Given the description of an element on the screen output the (x, y) to click on. 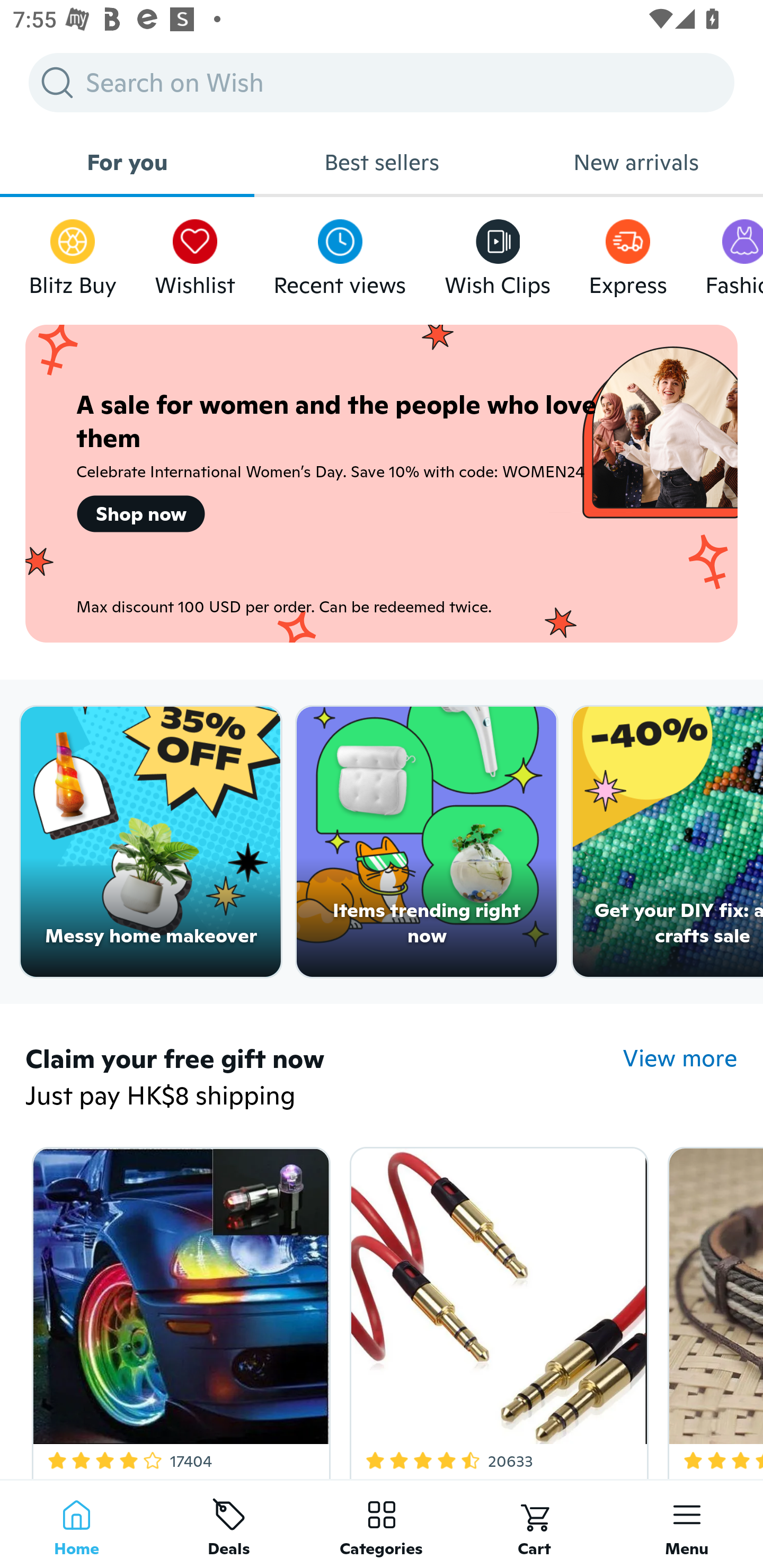
Search on Wish (381, 82)
For you (127, 161)
Best sellers (381, 161)
New arrivals (635, 161)
Blitz Buy (72, 252)
Wishlist (194, 252)
Recent views (339, 252)
Wish Clips (497, 252)
Express (627, 252)
Fashion (734, 252)
Messy home makeover (150, 841)
Items trending right now (426, 841)
Get your DIY fix: arts & crafts sale (668, 841)
Claim your free gift now
Just pay HK$8 shipping (323, 1078)
View more (679, 1058)
3.8 Star Rating 17404 Free (177, 1308)
4.3 Star Rating 20633 Free (495, 1308)
Home (76, 1523)
Deals (228, 1523)
Categories (381, 1523)
Cart (533, 1523)
Menu (686, 1523)
